Given the description of an element on the screen output the (x, y) to click on. 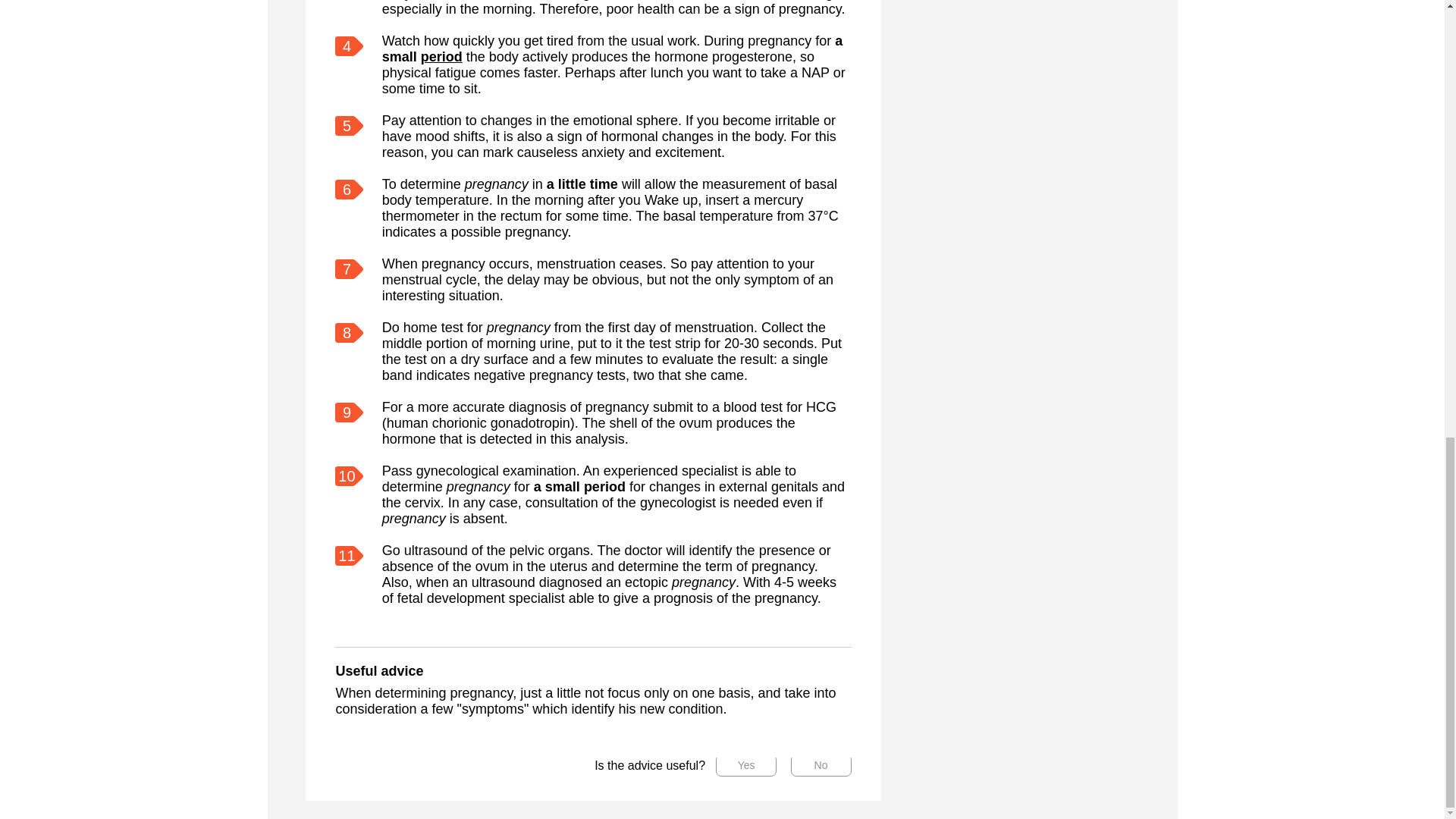
No (820, 765)
period (441, 56)
Yes (746, 765)
